Given the description of an element on the screen output the (x, y) to click on. 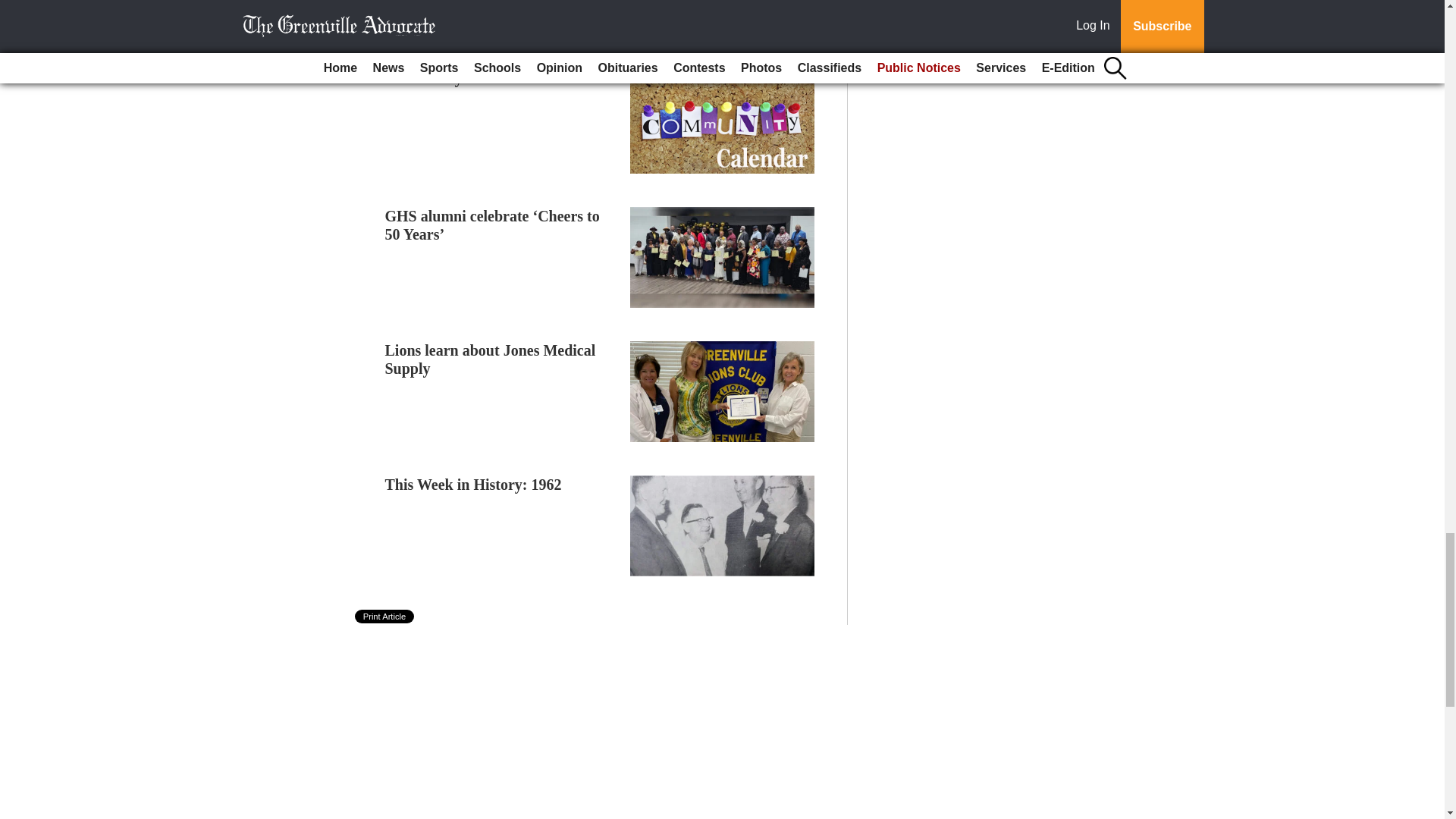
Community Calendar (456, 77)
This Week in History: 1962 (473, 484)
Print Article (384, 616)
Community Calendar (456, 77)
This Week in History: 1962 (473, 484)
Lions learn about Jones Medical Supply (490, 359)
Lions learn about Jones Medical Supply (490, 359)
